Given the description of an element on the screen output the (x, y) to click on. 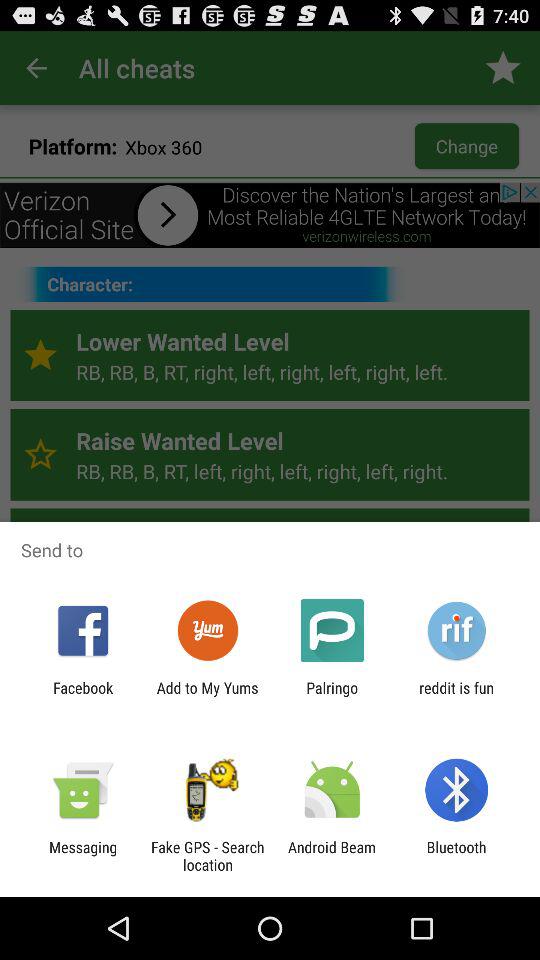
tap item to the right of the fake gps search app (332, 856)
